Given the description of an element on the screen output the (x, y) to click on. 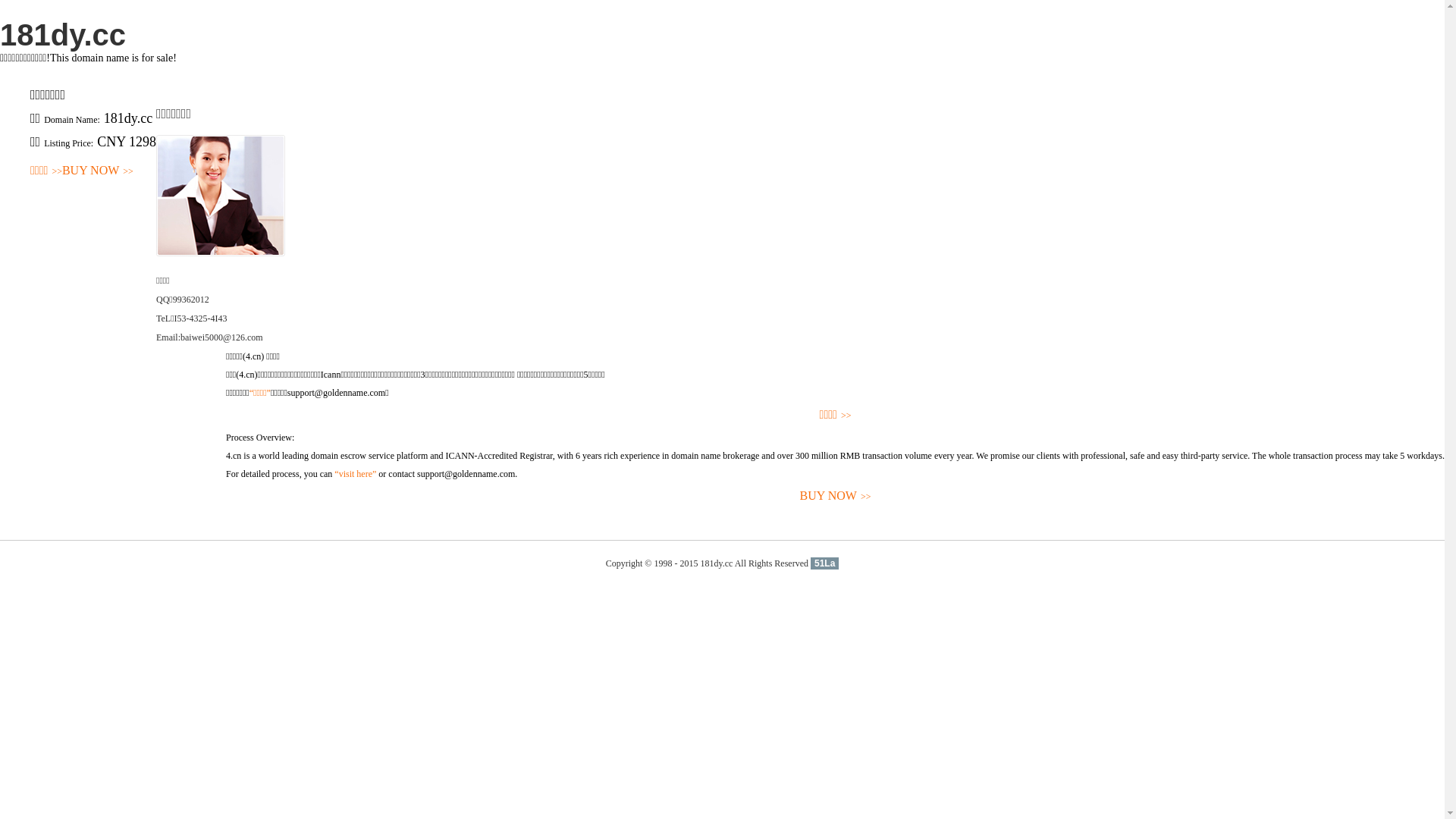
BUY NOW>> Element type: text (834, 496)
BUY NOW>> Element type: text (97, 170)
51La Element type: text (824, 563)
